Given the description of an element on the screen output the (x, y) to click on. 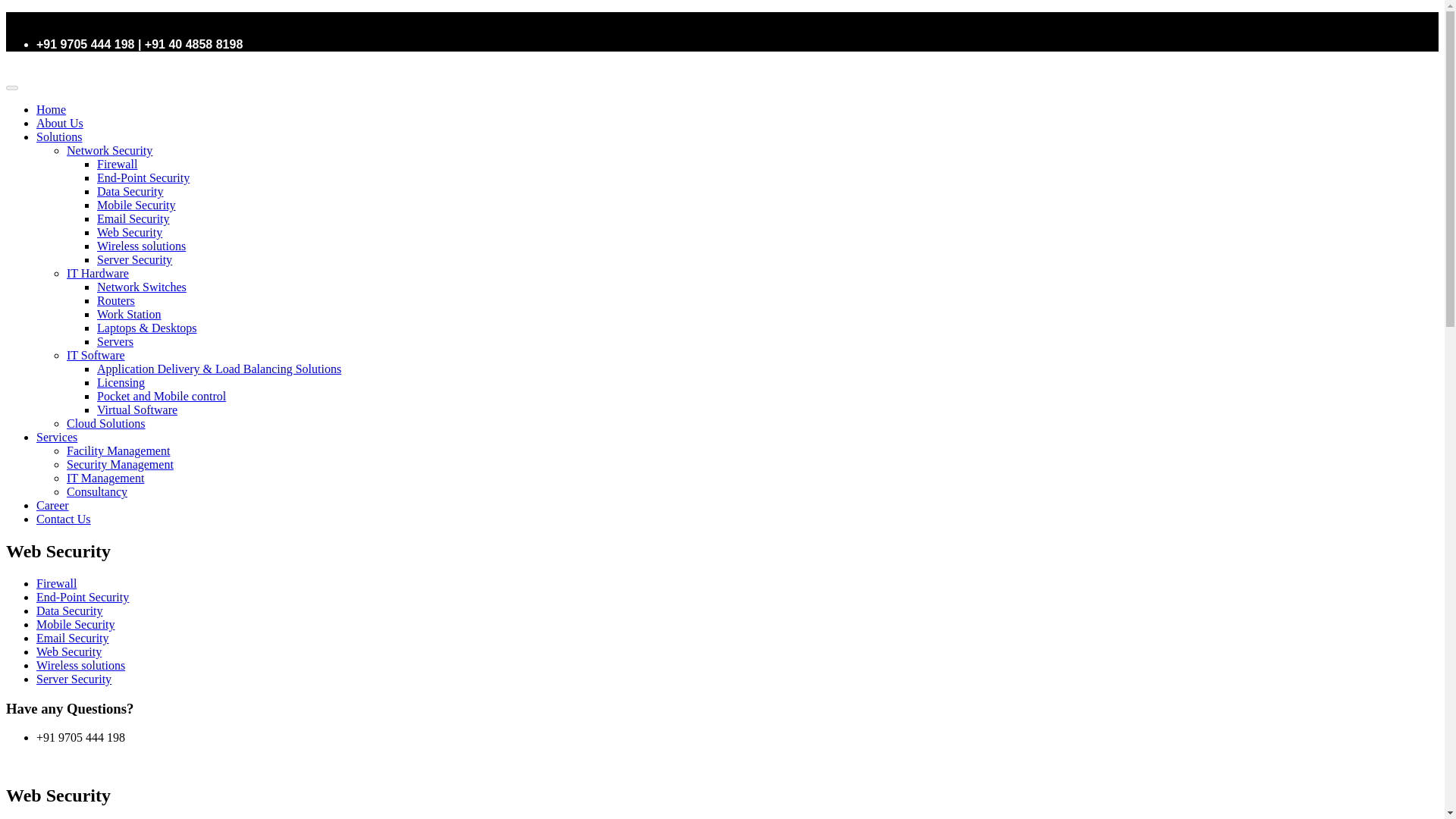
Security Management (119, 463)
End-Point Security (82, 596)
Network Security (109, 150)
Career (52, 504)
Mobile Security (136, 205)
Servers (115, 341)
Pocket and Mobile control (161, 395)
Wireless solutions (141, 245)
Routers (116, 300)
About Us (59, 123)
